Given the description of an element on the screen output the (x, y) to click on. 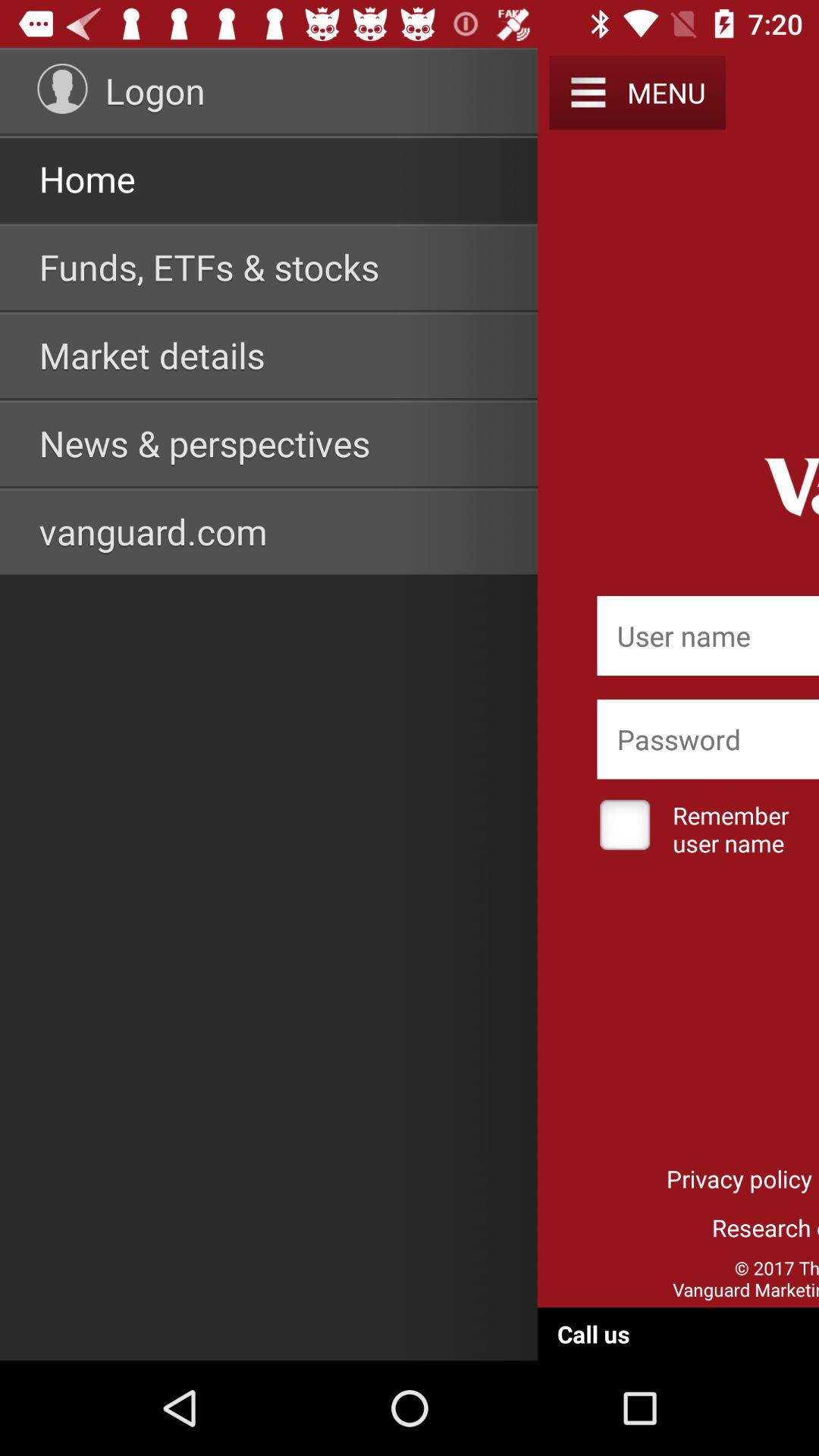
scroll until market details item (152, 355)
